Given the description of an element on the screen output the (x, y) to click on. 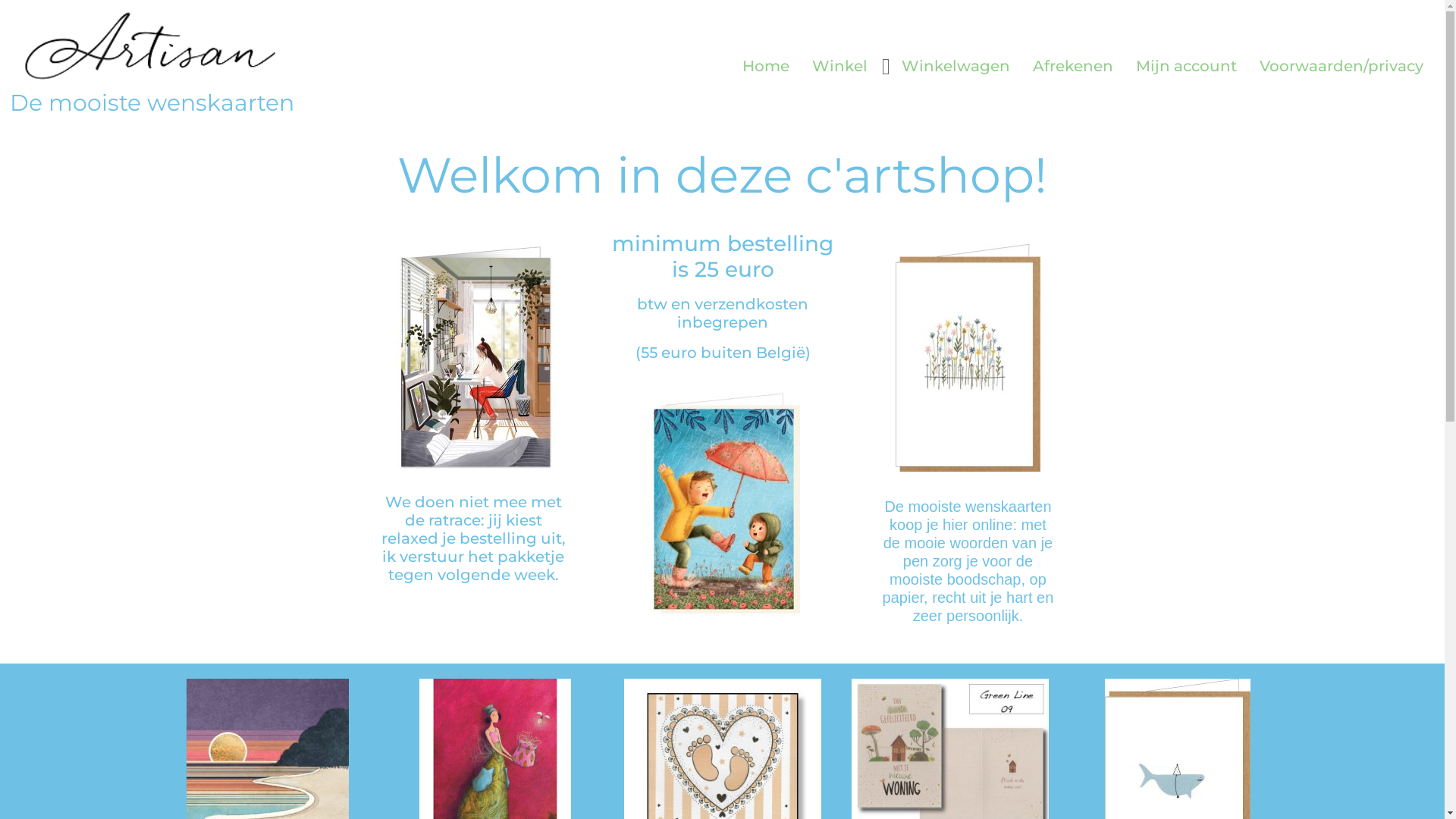
Winkel Element type: text (839, 65)
Home Element type: text (722, 155)
Afrekenen Element type: text (1072, 65)
Winkelwagen Element type: text (955, 65)
Home Element type: text (765, 65)
Mijn account Element type: text (1186, 65)
Voorwaarden/privacy Element type: text (1341, 65)
